Given the description of an element on the screen output the (x, y) to click on. 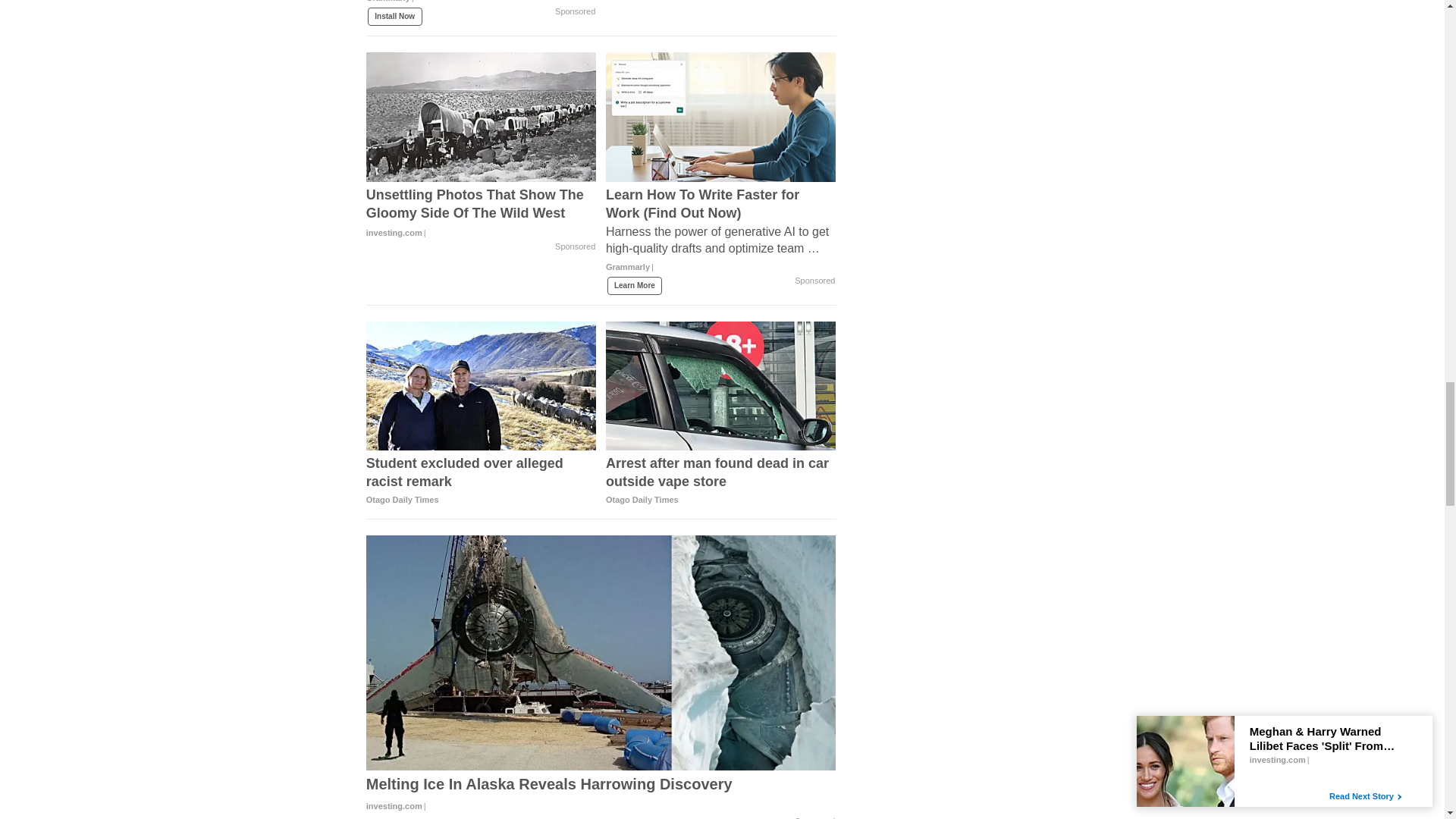
What is your writing missing? (481, 7)
